Given the description of an element on the screen output the (x, y) to click on. 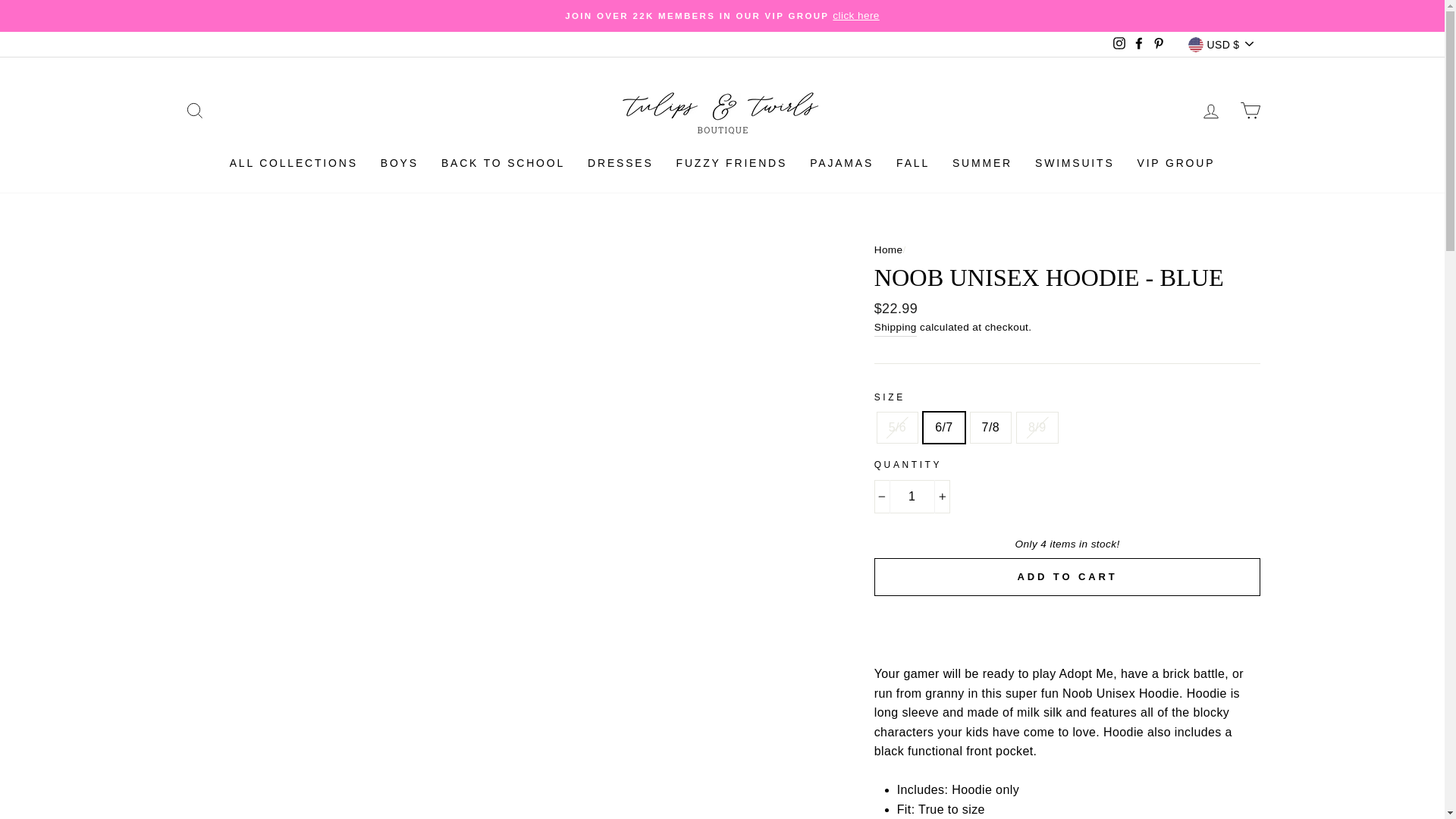
1 (912, 496)
Back to the frontpage (888, 249)
